Given the description of an element on the screen output the (x, y) to click on. 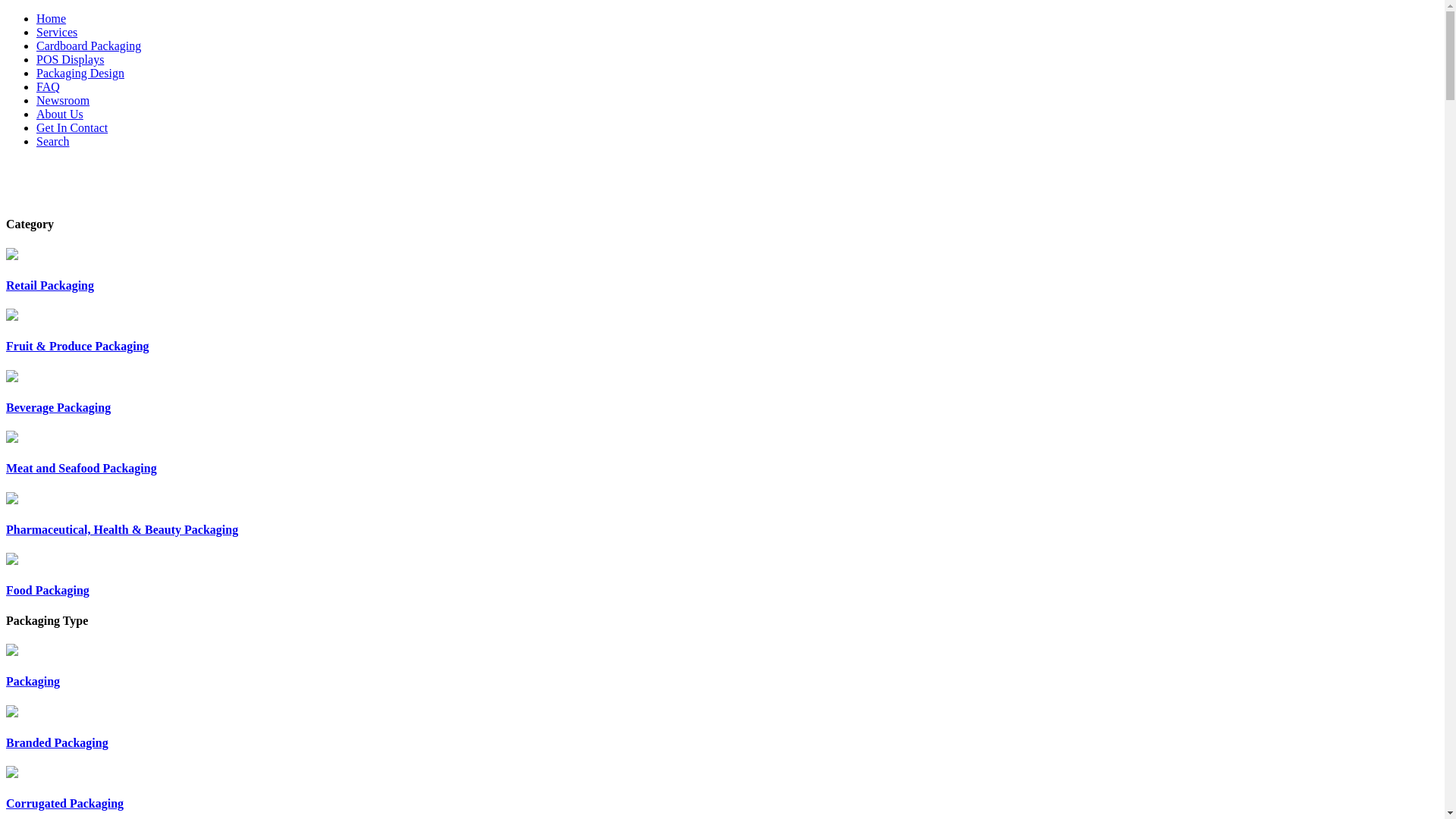
Beverage Packaging Element type: text (722, 392)
Services Element type: text (56, 31)
Meat and Seafood Packaging Element type: text (722, 452)
Home Element type: text (50, 18)
Fruit & Produce Packaging Element type: text (722, 330)
Pharmaceutical, Health & Beauty Packaging Element type: text (722, 514)
Cardboard Packaging Element type: text (88, 45)
Packaging Element type: text (722, 665)
Newsroom Element type: text (62, 100)
POS Displays Element type: text (69, 59)
Corrugated Packaging Element type: text (722, 787)
Get In Contact Element type: text (71, 127)
Food Packaging Element type: text (722, 574)
About Us Element type: text (59, 113)
Retail Packaging Element type: text (722, 269)
Packaging Design Element type: text (80, 72)
Search Element type: text (52, 140)
Branded Packaging Element type: text (722, 727)
FAQ Element type: text (47, 86)
